Given the description of an element on the screen output the (x, y) to click on. 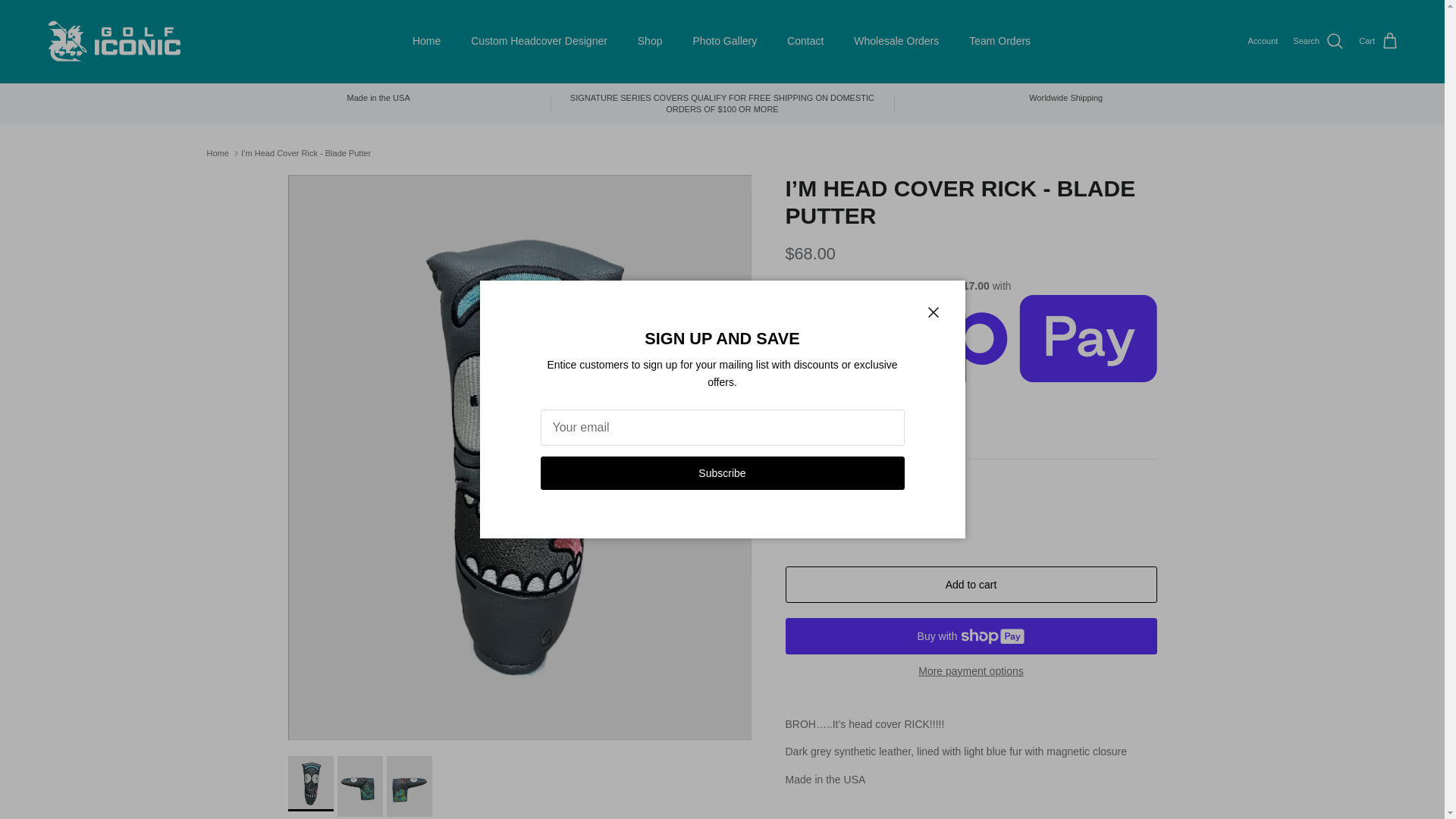
Search (1317, 41)
Golf Iconic (113, 41)
1 (847, 517)
Account (1262, 41)
Team Orders (999, 41)
Photo Gallery (724, 41)
Wholesale Orders (896, 41)
Cart (1378, 41)
Home (426, 41)
Contact (805, 41)
Shop (650, 41)
Custom Headcover Designer (539, 41)
